Given the description of an element on the screen output the (x, y) to click on. 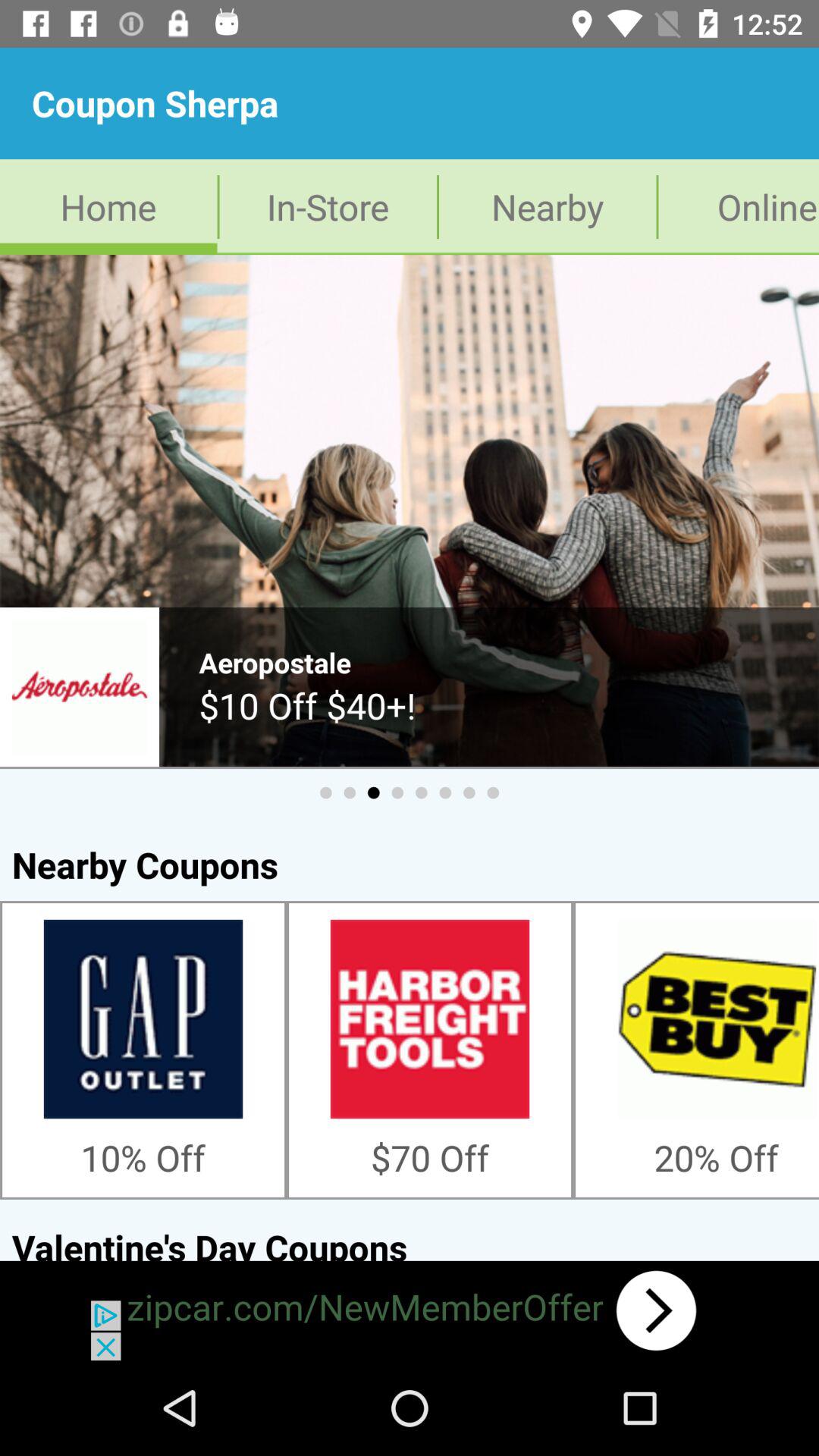
open advertisement (409, 1310)
